Given the description of an element on the screen output the (x, y) to click on. 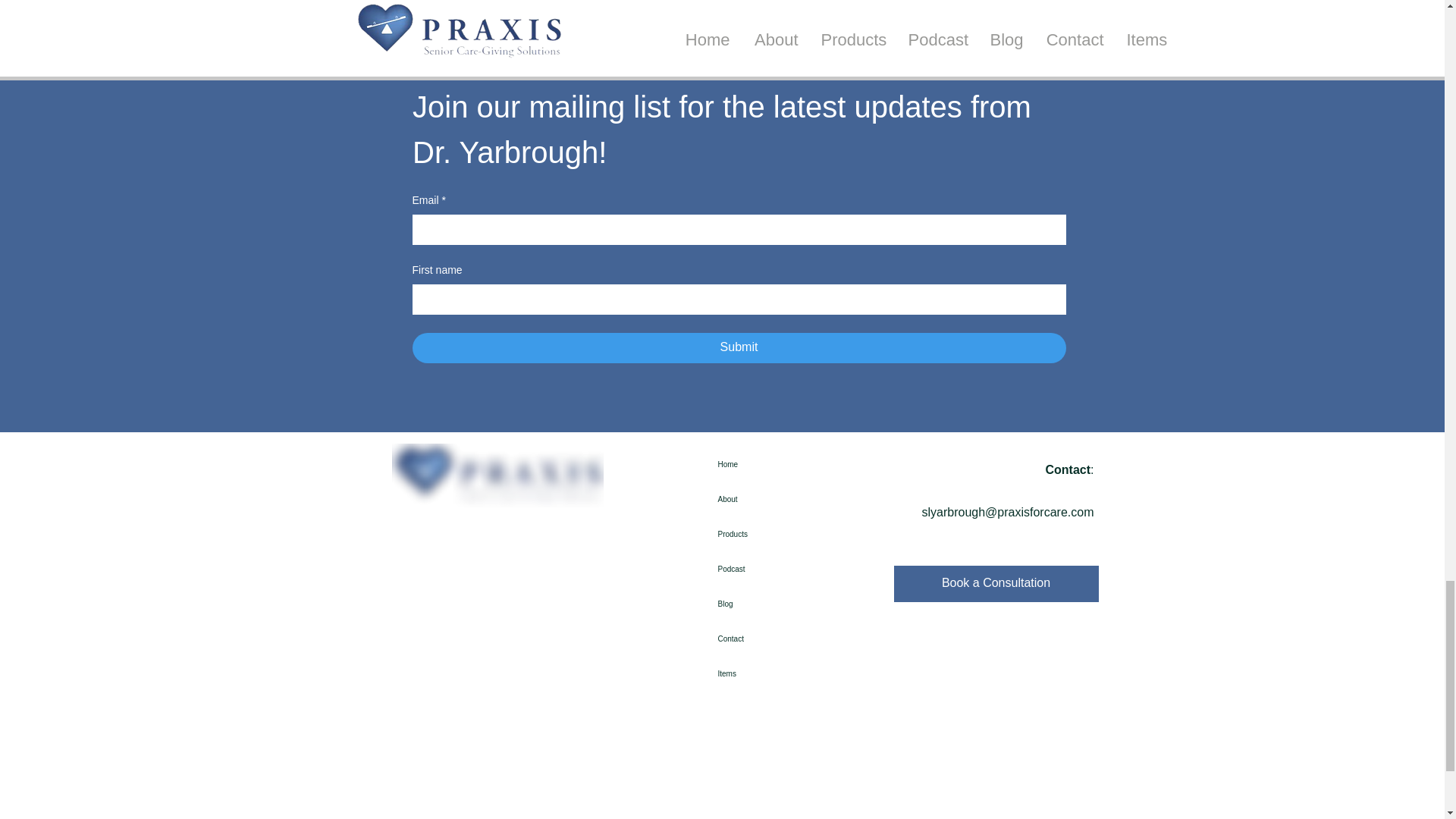
Submit (738, 347)
Home (745, 464)
About (745, 499)
